Given the description of an element on the screen output the (x, y) to click on. 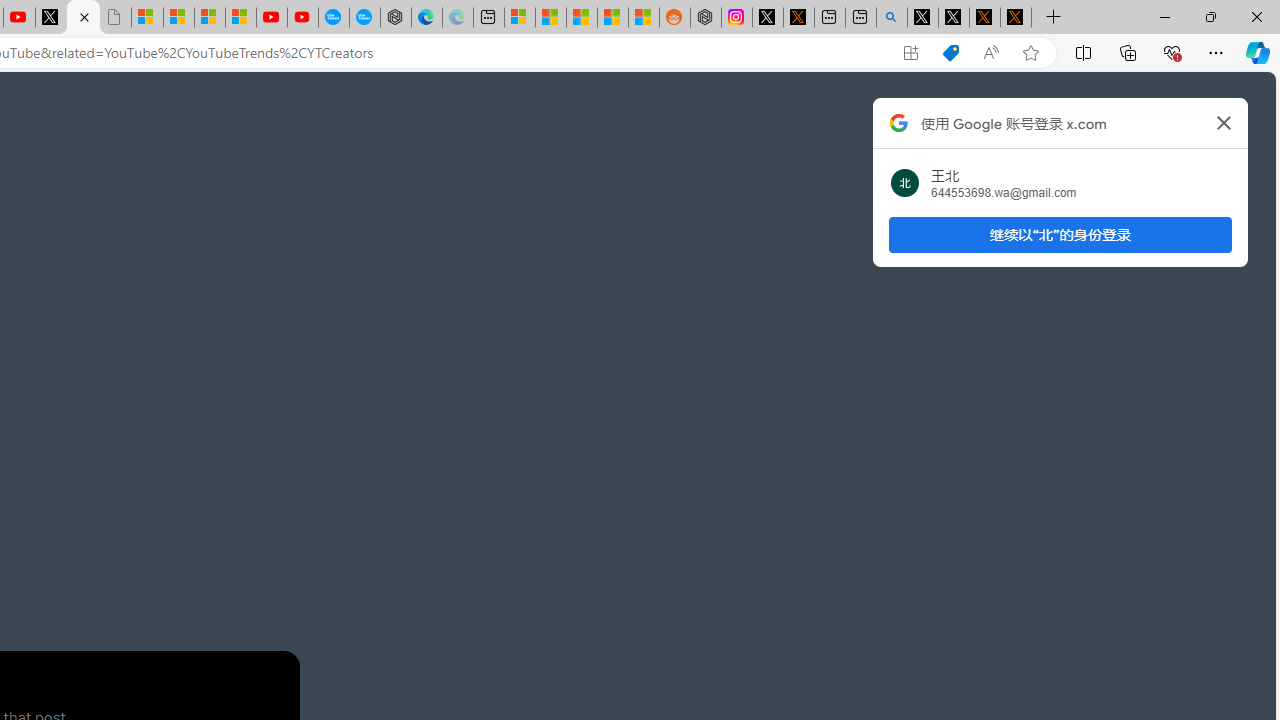
github - Search (891, 17)
Profile / X (922, 17)
YouTube Kids - An App Created for Kids to Explore Content (302, 17)
X (82, 17)
Class: Bz112c Bz112c-r9oPif (1224, 122)
Copilot (Ctrl+Shift+.) (1258, 52)
Read aloud this page (Ctrl+Shift+U) (991, 53)
GitHub (@github) / X (953, 17)
Microsoft account | Microsoft Account Privacy Settings (520, 17)
Browser essentials (1171, 52)
help.x.com | 524: A timeout occurred (798, 17)
Collections (1128, 52)
